Given the description of an element on the screen output the (x, y) to click on. 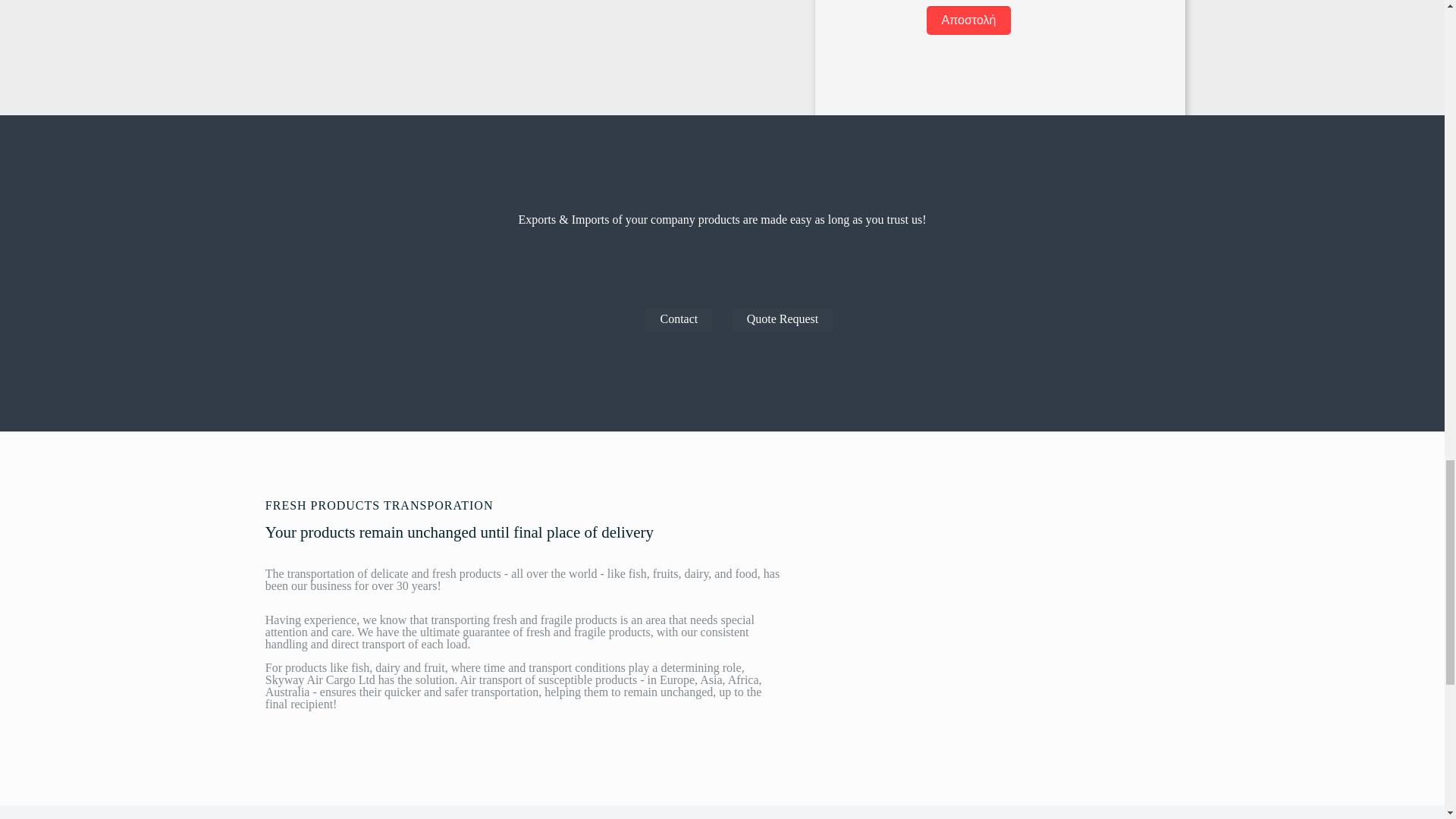
Quote Request (783, 318)
Contact (679, 318)
